Given the description of an element on the screen output the (x, y) to click on. 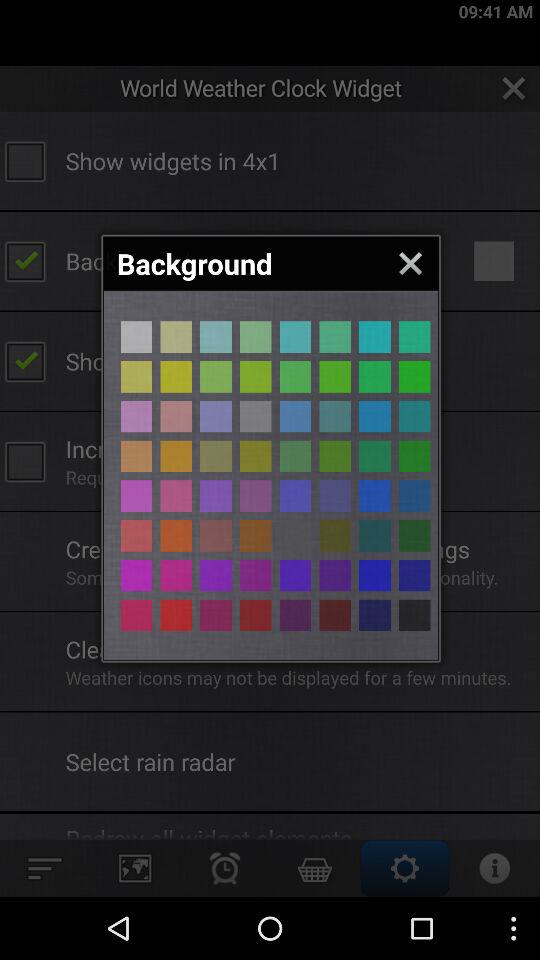
select light brown shade (215, 416)
